Given the description of an element on the screen output the (x, y) to click on. 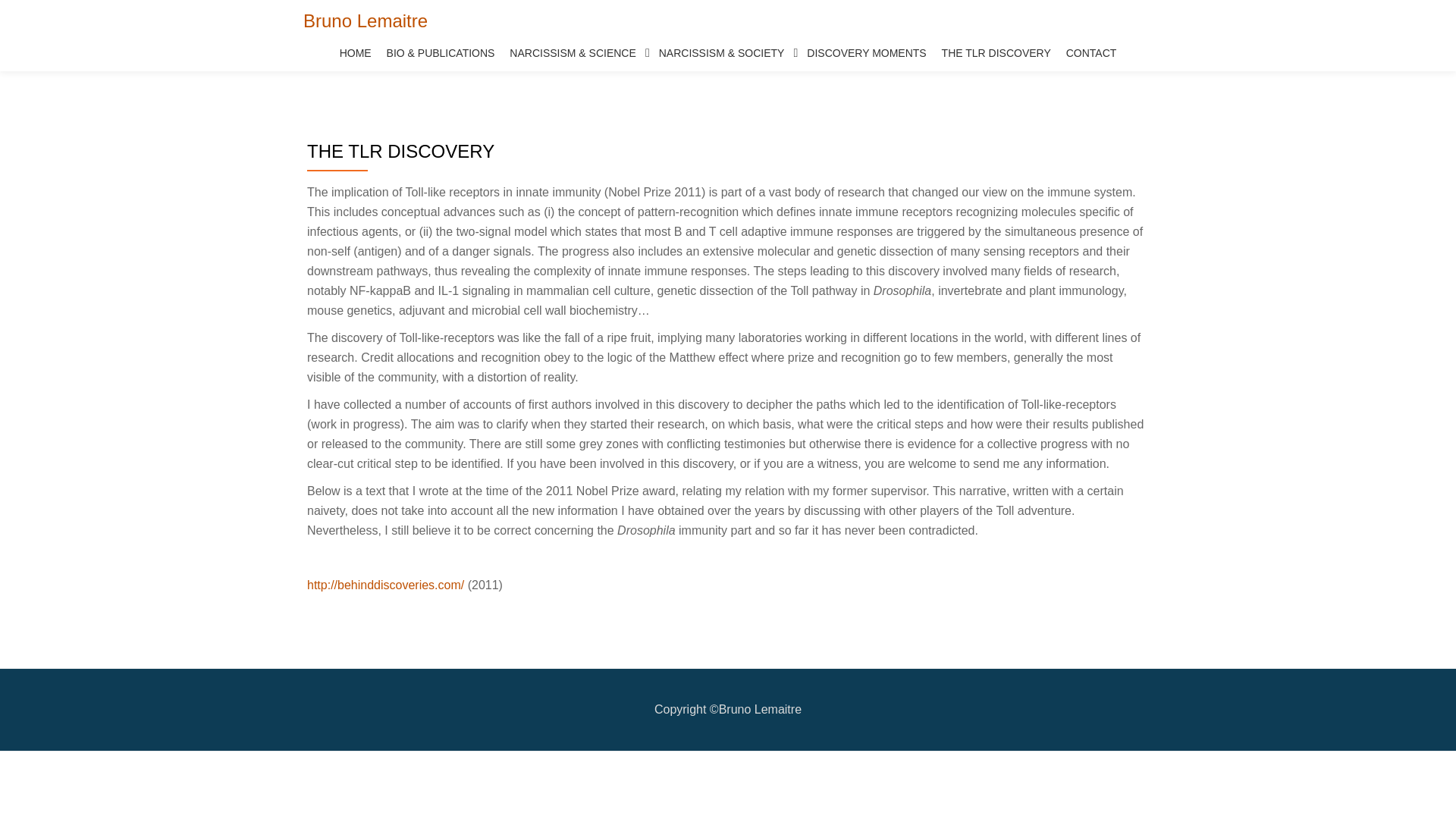
Bruno Lemaitre (365, 20)
DISCOVERY MOMENTS (865, 52)
THE TLR DISCOVERY (996, 52)
HOME (355, 52)
CONTACT (1090, 52)
Bruno Lemaitre (365, 20)
